Given the description of an element on the screen output the (x, y) to click on. 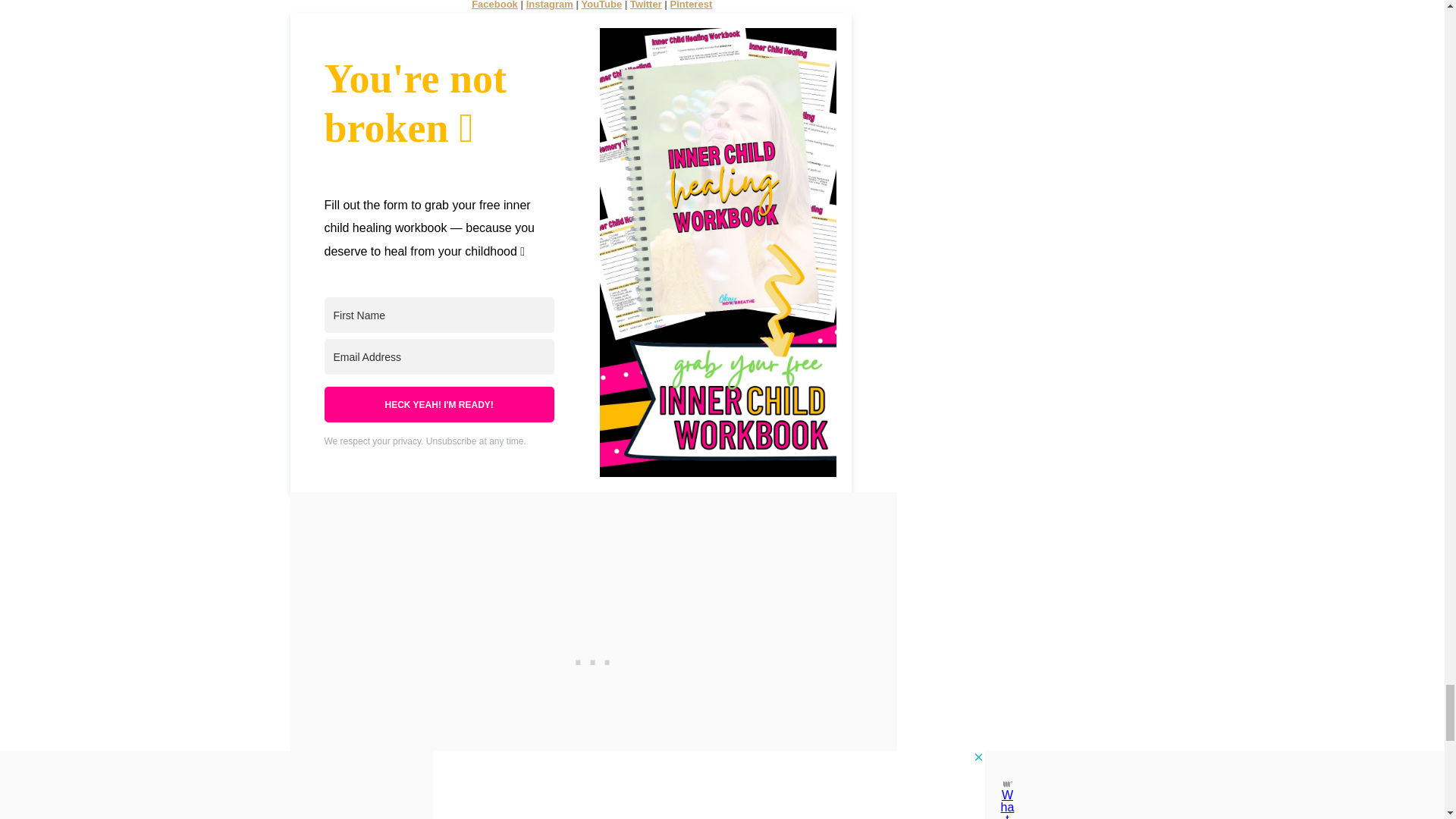
HECK YEAH! I'M READY! (439, 404)
Pinterest (691, 4)
Twitter (646, 4)
Instagram (549, 4)
Facebook (494, 4)
YouTube (600, 4)
